Given the description of an element on the screen output the (x, y) to click on. 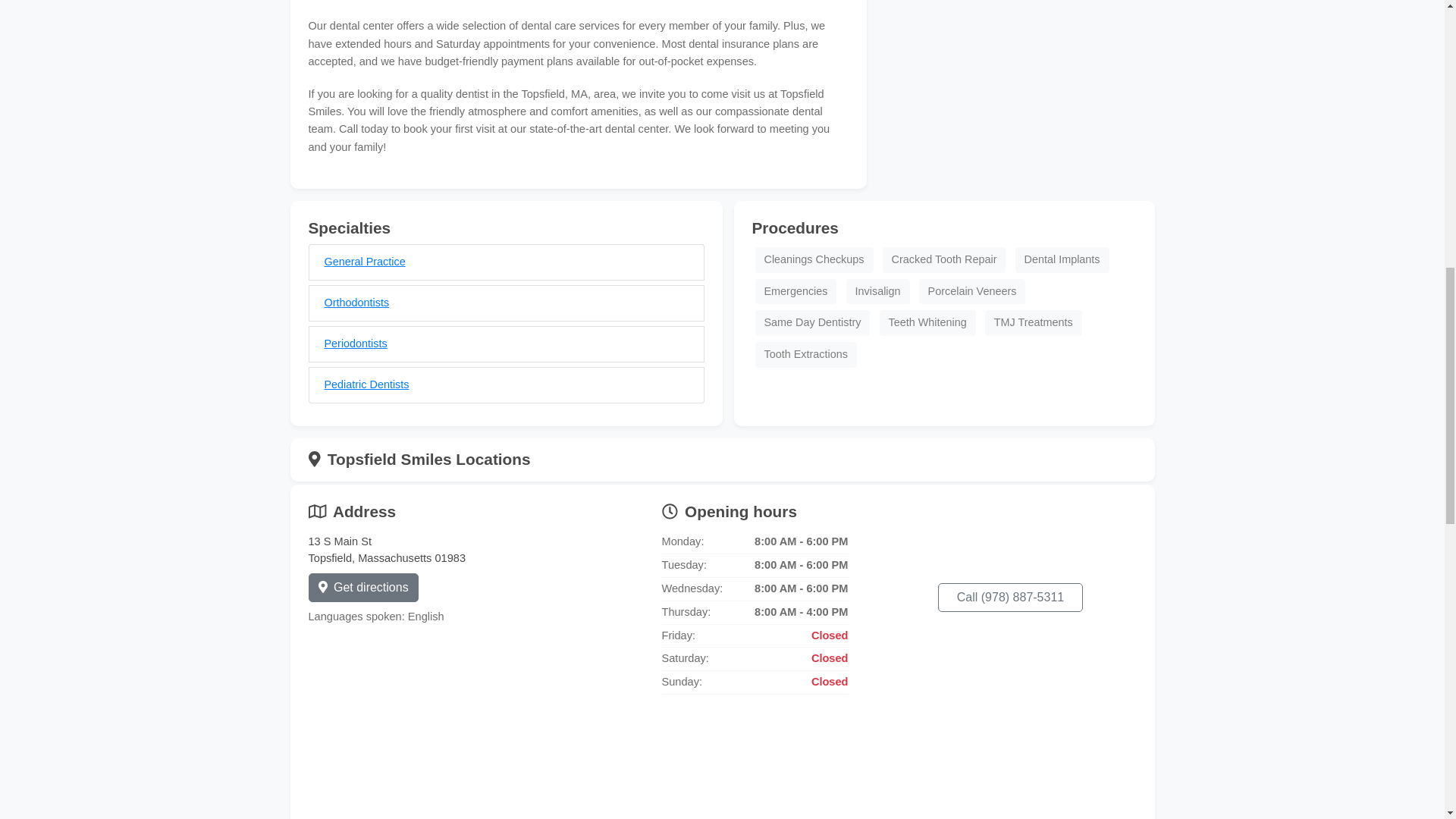
Get directions (362, 587)
Topsfield Smiles - Topsfield location (721, 767)
General Practice (365, 261)
Periodontists (355, 343)
Pediatric Dentists (366, 384)
Orthodontists (357, 302)
